Given the description of an element on the screen output the (x, y) to click on. 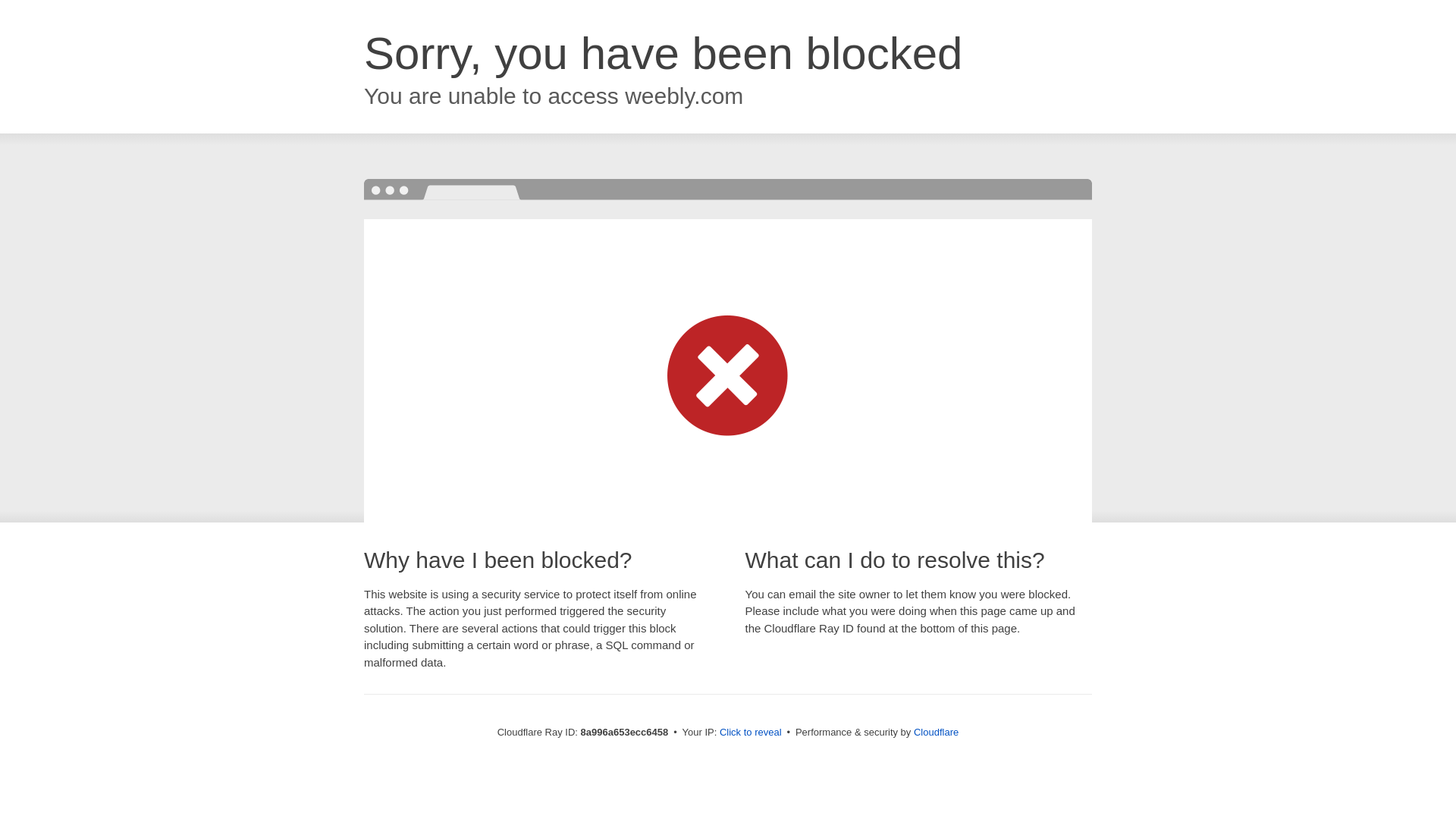
Cloudflare (936, 731)
Click to reveal (750, 732)
